Given the description of an element on the screen output the (x, y) to click on. 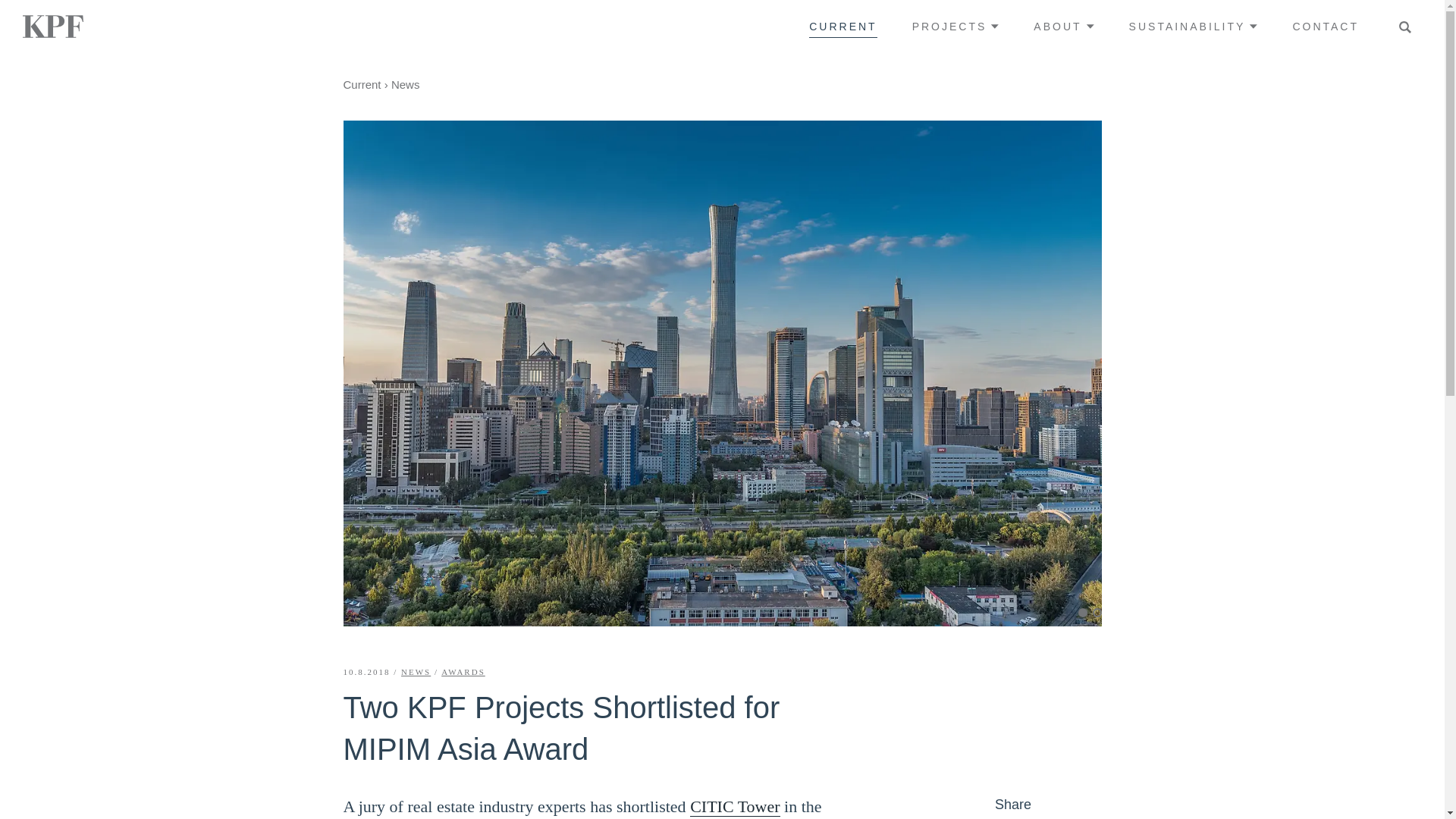
CURRENT (842, 26)
PROJECTS (955, 26)
SUSTAINABILITY (1193, 26)
ABOUT (1063, 26)
